Given the description of an element on the screen output the (x, y) to click on. 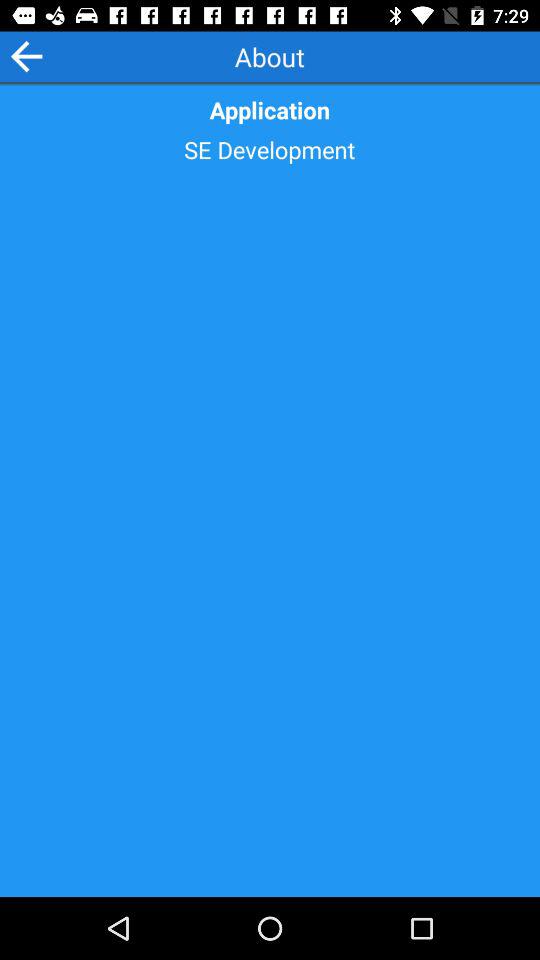
go back (26, 56)
